Given the description of an element on the screen output the (x, y) to click on. 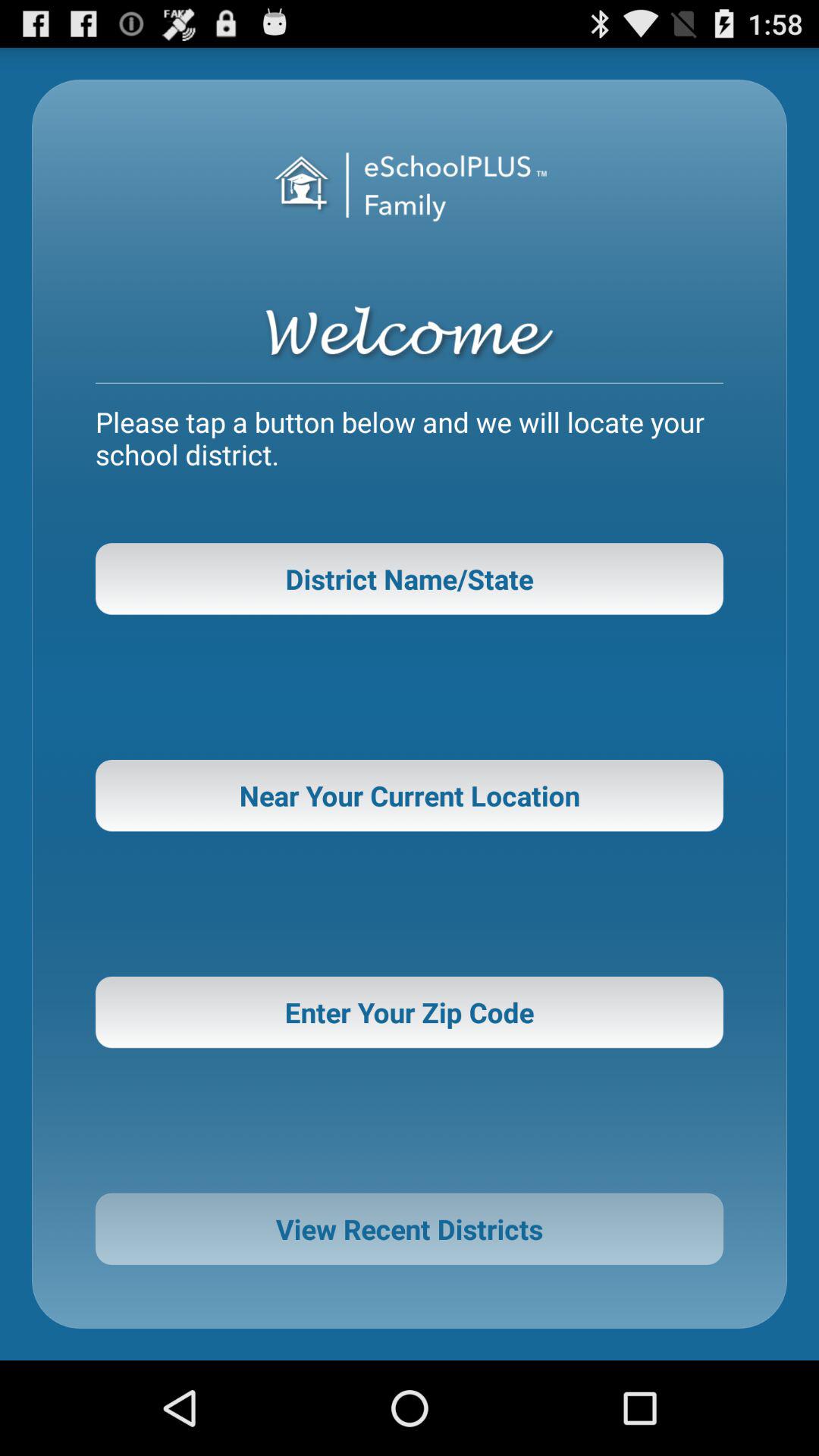
choose button below the near your current (409, 1012)
